Given the description of an element on the screen output the (x, y) to click on. 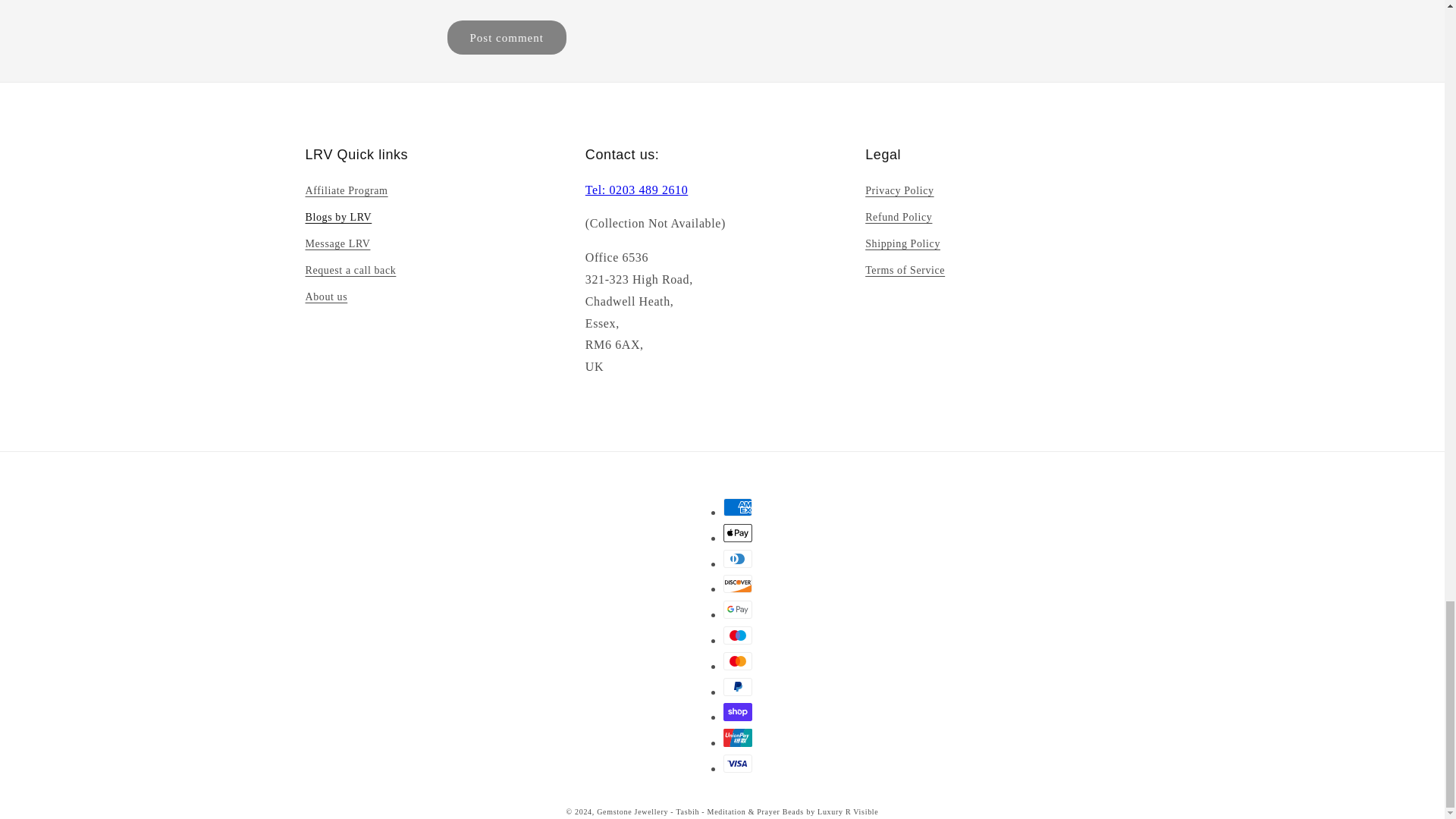
Visa (737, 763)
Google Pay (737, 609)
American Express (737, 506)
Post comment (506, 37)
Union Pay (737, 737)
Maestro (737, 635)
Discover (737, 583)
Diners Club (737, 558)
Shop Pay (737, 711)
Apple Pay (737, 533)
PayPal (737, 687)
Mastercard (737, 660)
